Given the description of an element on the screen output the (x, y) to click on. 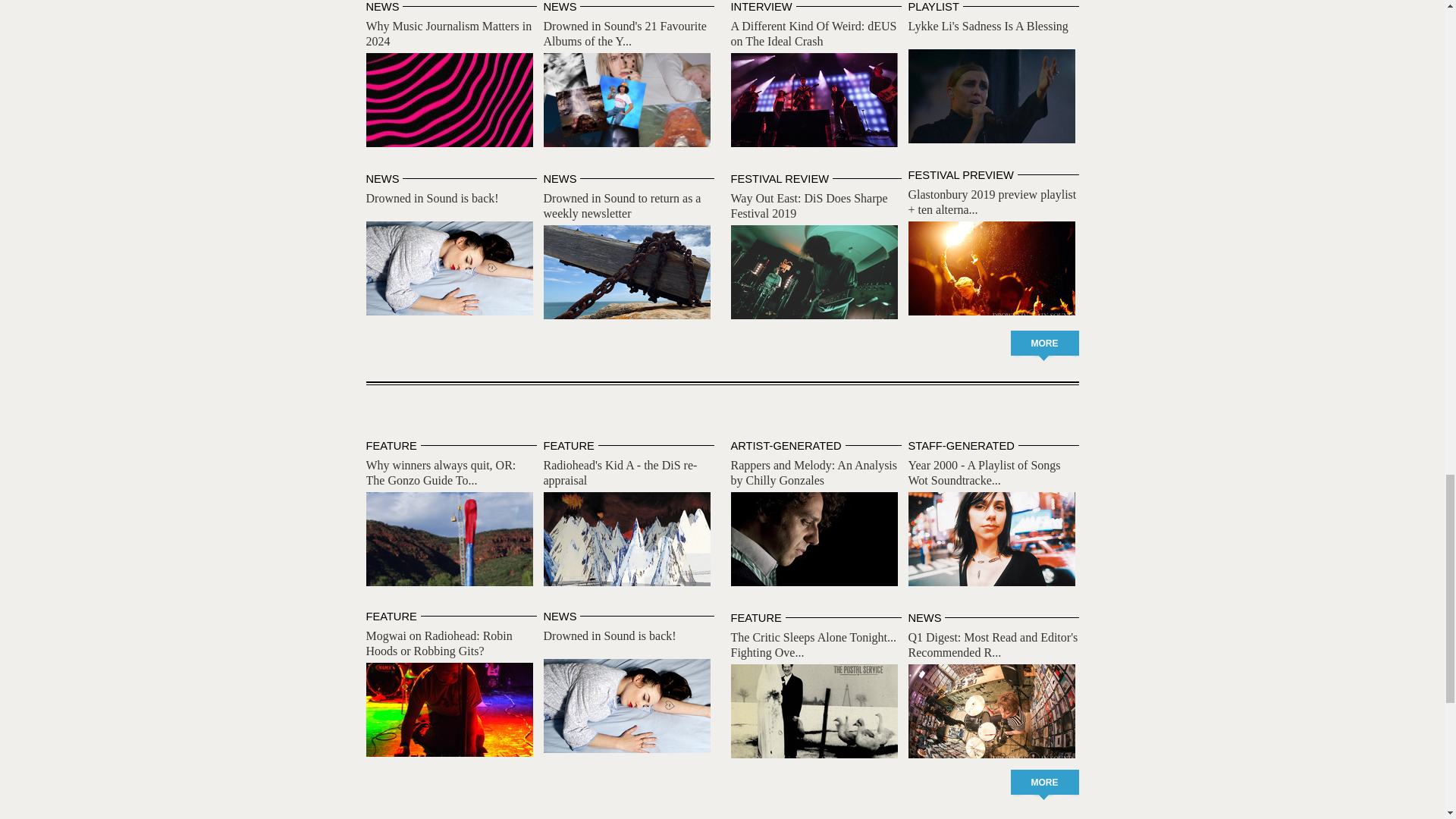
Lykke Li's Sadness Is A Blessing (988, 25)
Drowned in Sound is back! (448, 268)
Drowned in Sound's 21 Favourite Albums of the Y... (624, 33)
Drowned in Sound's 21 Favourite Albums of the Year: 2020 (626, 100)
Radiohead's Kid A - the DiS re-appraisal (626, 539)
Lykke Li's Sadness Is A Blessing (991, 96)
A Different Kind Of Weird: dEUS on The Ideal Crash (814, 100)
Why Music Journalism Matters in 2024 (448, 100)
Why Music Journalism Matters in 2024 (448, 33)
Why winners always quit, OR: The Gonzo Guide To Closure (448, 539)
Rappers and Melody: An Analysis by Chilly Gonzales (814, 539)
Drowned in Sound is back! (431, 197)
Drowned in Sound to return as a weekly newsletter (621, 205)
Mogwai on Radiohead: Robin Hoods or Robbing Gits? (448, 709)
